Given the description of an element on the screen output the (x, y) to click on. 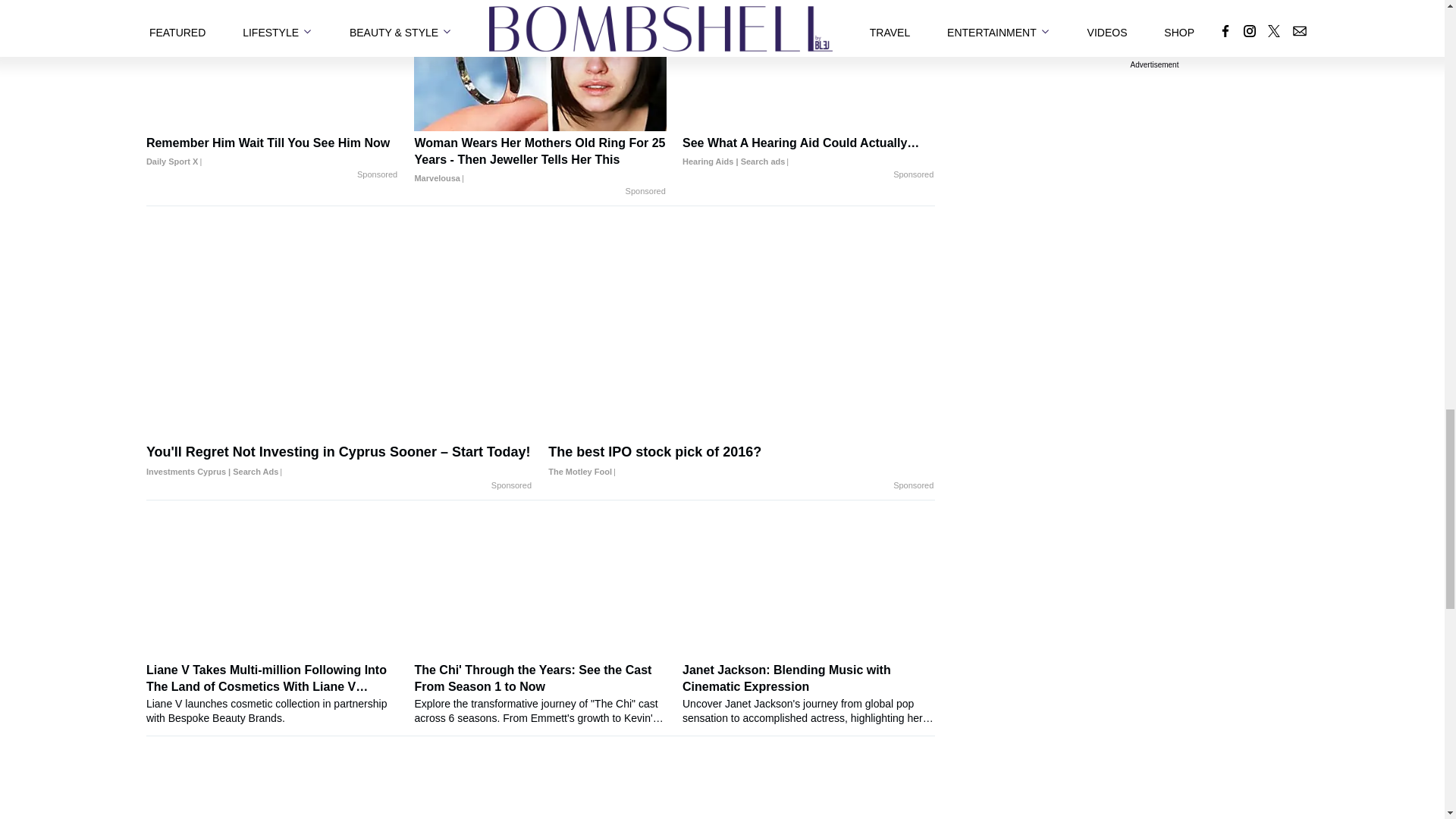
The best IPO stock pick of 2016? (741, 461)
See What A Hearing Aid Could Actually Cost (808, 152)
Remember Him Wait Till You See Him Now (272, 152)
Janet Jackson: Blending Music with Cinematic Expression (808, 693)
